Given the description of an element on the screen output the (x, y) to click on. 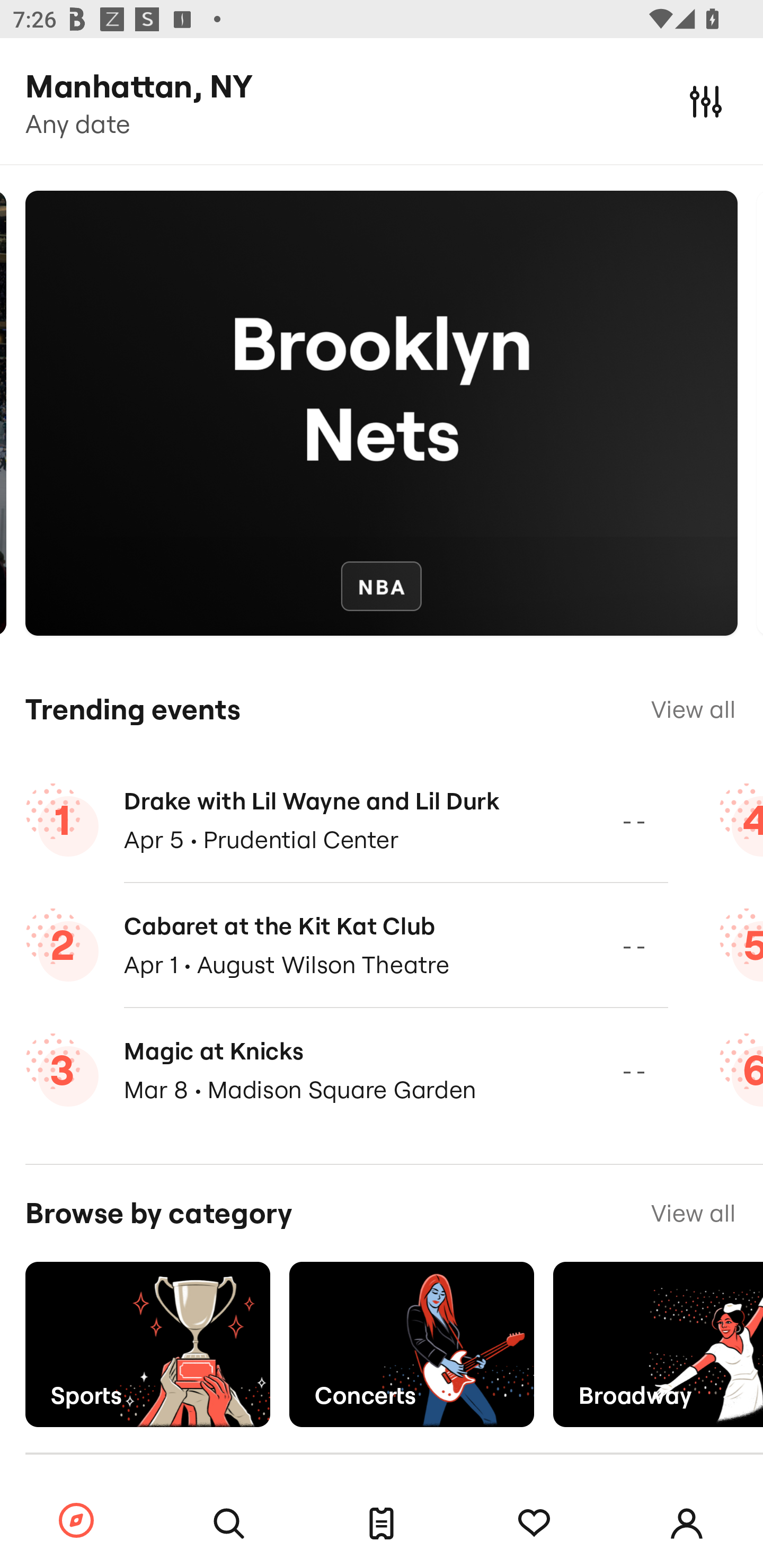
Filters (705, 100)
View all (693, 709)
View all (693, 1213)
Sports (147, 1344)
Concerts (411, 1344)
Broadway (658, 1344)
Browse (76, 1521)
Search (228, 1523)
Tickets (381, 1523)
Tracking (533, 1523)
Account (686, 1523)
